Given the description of an element on the screen output the (x, y) to click on. 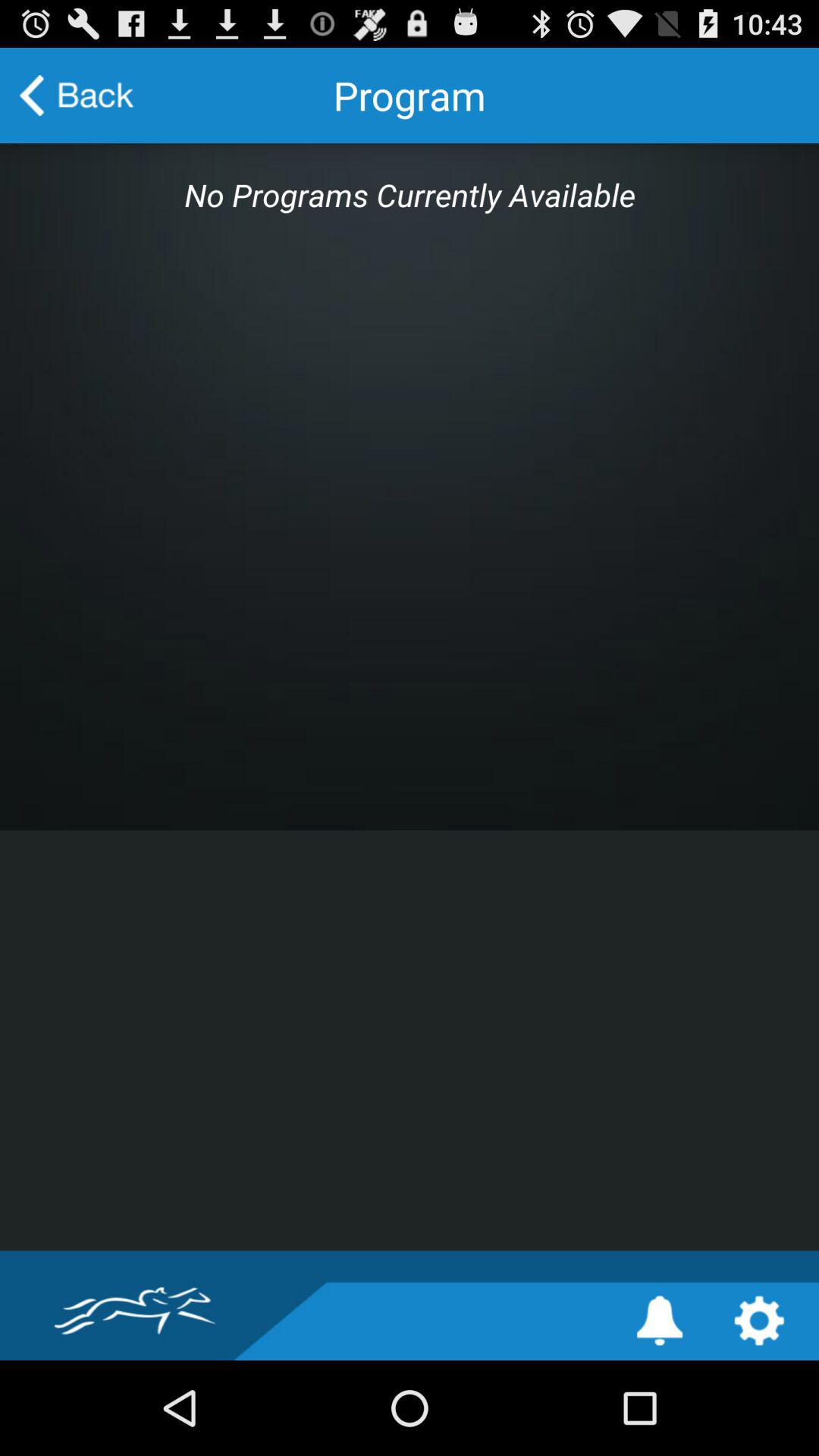
settings button (759, 1320)
